Given the description of an element on the screen output the (x, y) to click on. 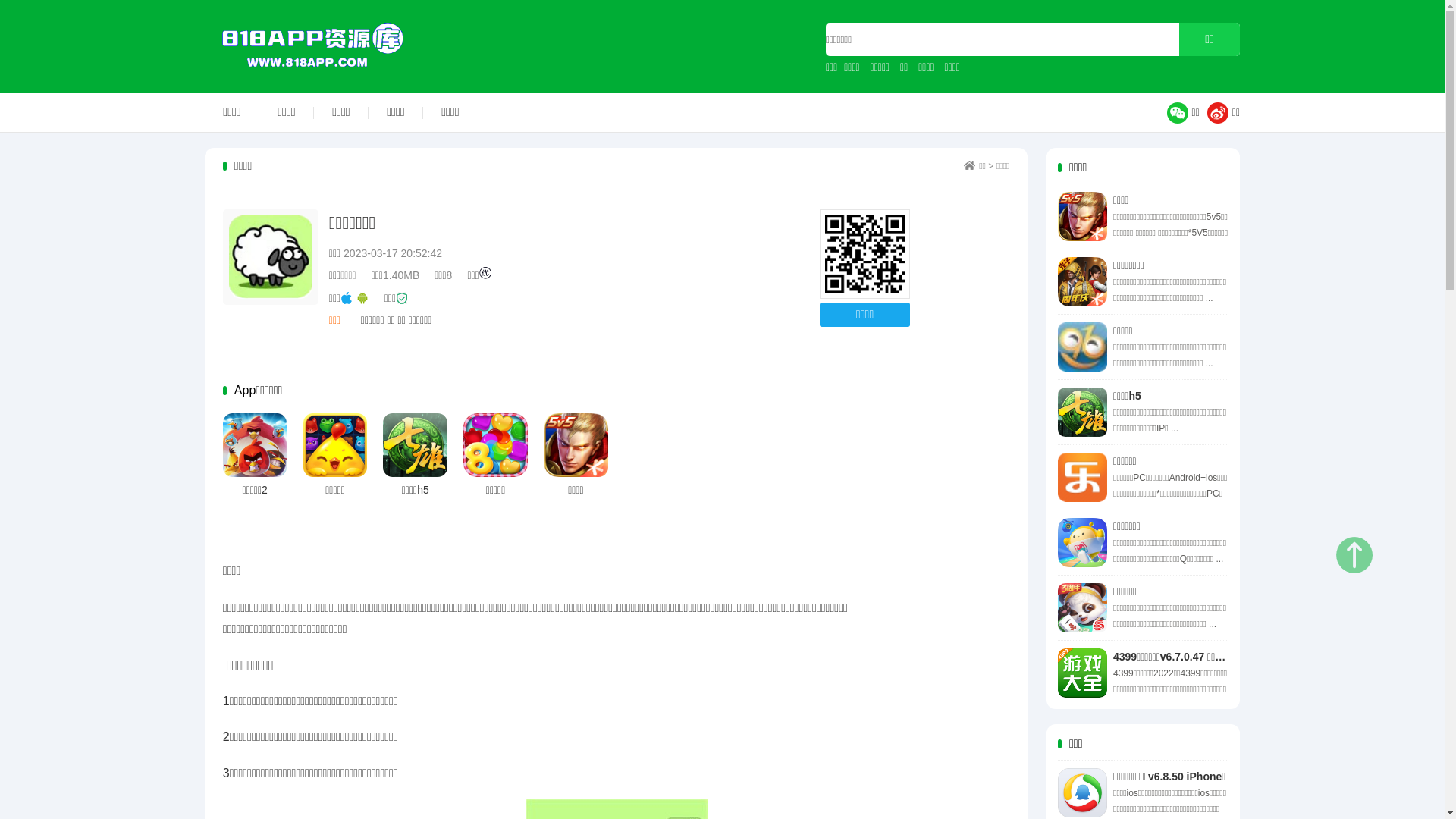
http://www.818app.com Element type: hover (864, 254)
